Given the description of an element on the screen output the (x, y) to click on. 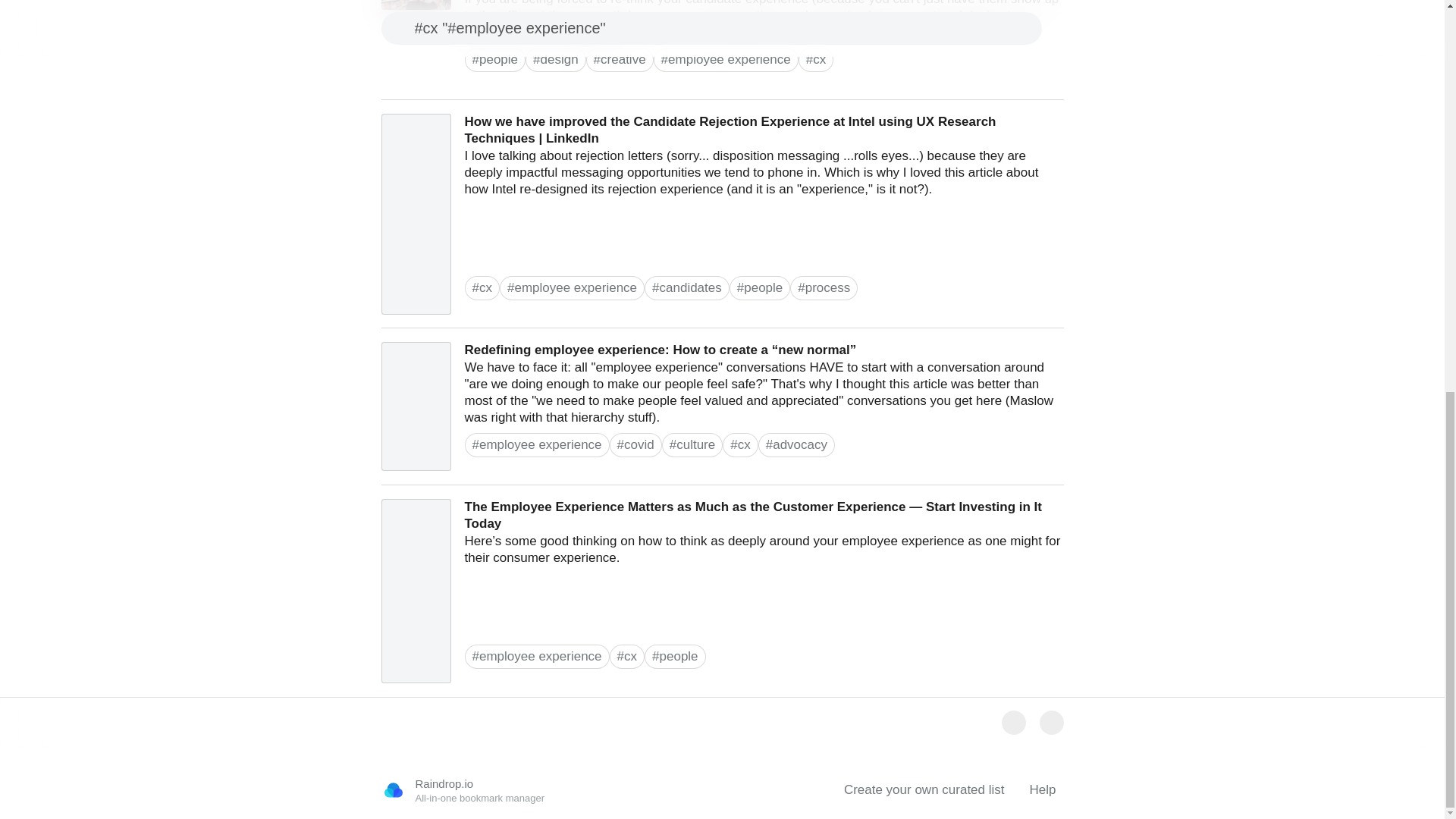
Previous page (1013, 722)
Next page (1050, 722)
Raindrop.io (392, 790)
